Given the description of an element on the screen output the (x, y) to click on. 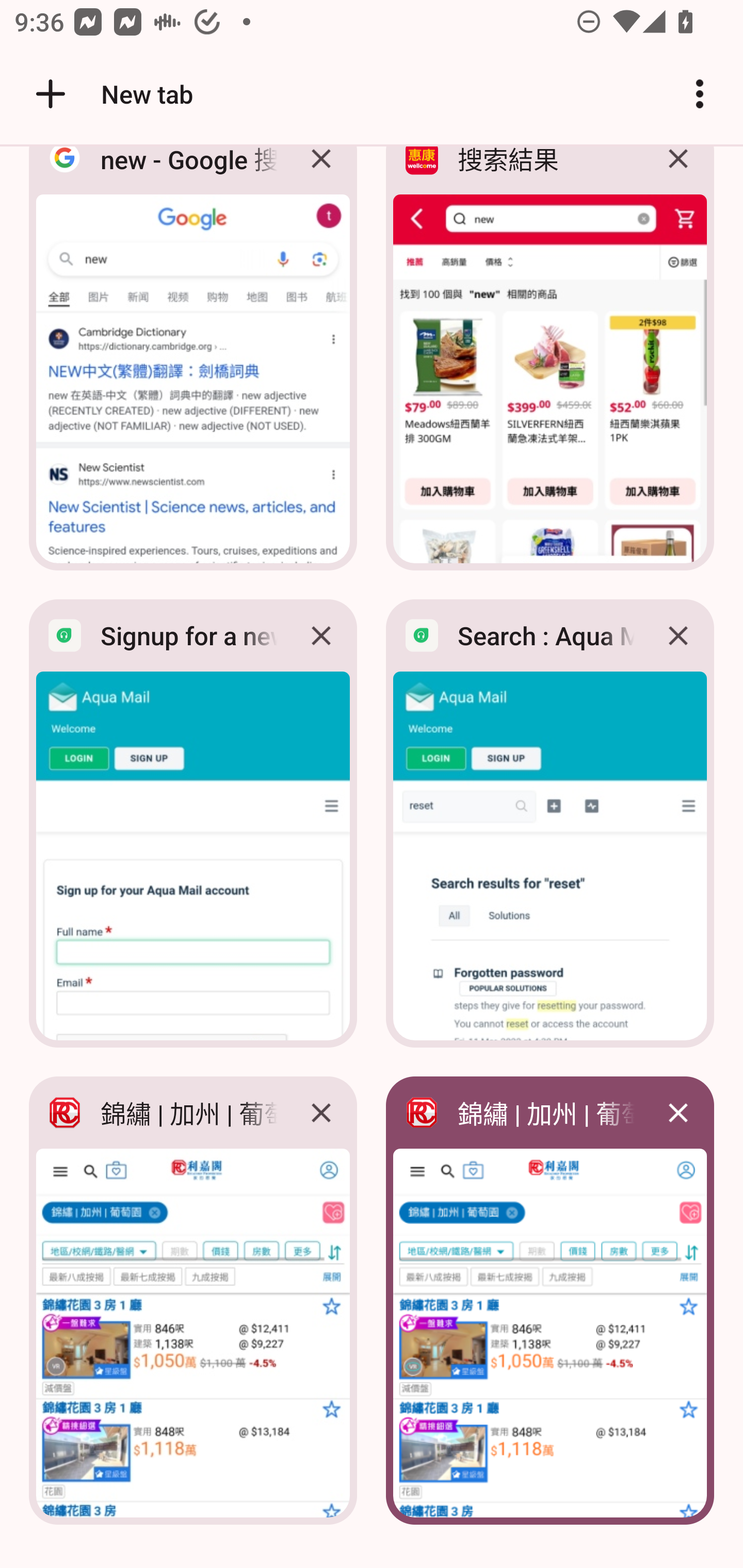
New tab (111, 93)
Customize and control Google Chrome (699, 93)
Close new - Google 搜索 tab (320, 173)
搜索結果 搜索結果, tab Close 搜索結果 tab (549, 364)
Close 搜索結果 tab (677, 173)
Close Signup for a new account : Aqua Mail tab (320, 635)
Close Search : Aqua Mail tab (677, 635)
